Given the description of an element on the screen output the (x, y) to click on. 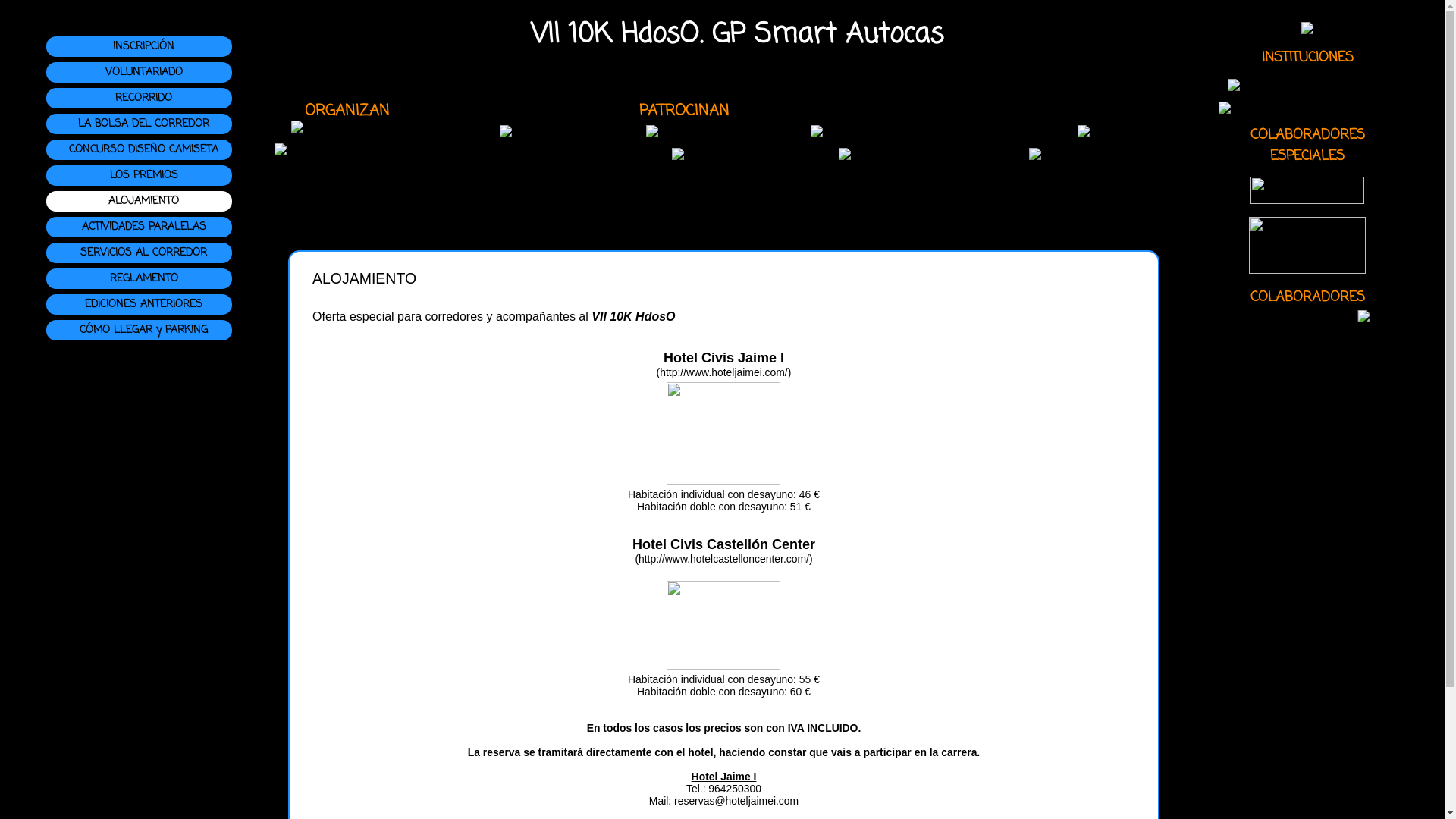
CIFRE Element type: hover (693, 153)
ACTIVIDADES PARALELAS Element type: text (143, 227)
LOS PREMIOS Element type: text (143, 175)
GENERAL COURIER Element type: hover (895, 153)
http://www.hoteljaimei.com/ Element type: text (723, 372)
EDICIONES ANTERIORES Element type: text (143, 304)
CLUB DESERT AMUNT Element type: hover (353, 126)
RECORRIDO Element type: text (143, 98)
NACHO MARTINEZ ENTRENADOR PERSONAL Element type: hover (1307, 30)
ALOJAMIENTO Element type: text (723, 278)
SERVICIOS AL CORREDOR Element type: text (143, 252)
EL MAGRANAR AGROTURISMO Element type: hover (895, 131)
HOTEL JAIME I Element type: hover (1306, 269)
BP Element type: hover (1090, 131)
RURAL NOSTRA Element type: hover (693, 131)
REGLAMENTO Element type: text (143, 278)
MERCEDES BENZ - AUTOCAS Element type: hover (512, 131)
http://www.hotelcastelloncenter.com/ Element type: text (723, 558)
CENTRO DEPORTIVO HDOSO Element type: hover (353, 161)
LA BOLSA DEL CORREDOR Element type: text (143, 123)
VOLUNTARIADO Element type: text (143, 72)
ALOJAMIENTO Element type: text (143, 201)
BRICOMART Element type: hover (1307, 200)
corredores Element type: text (454, 316)
